Given the description of an element on the screen output the (x, y) to click on. 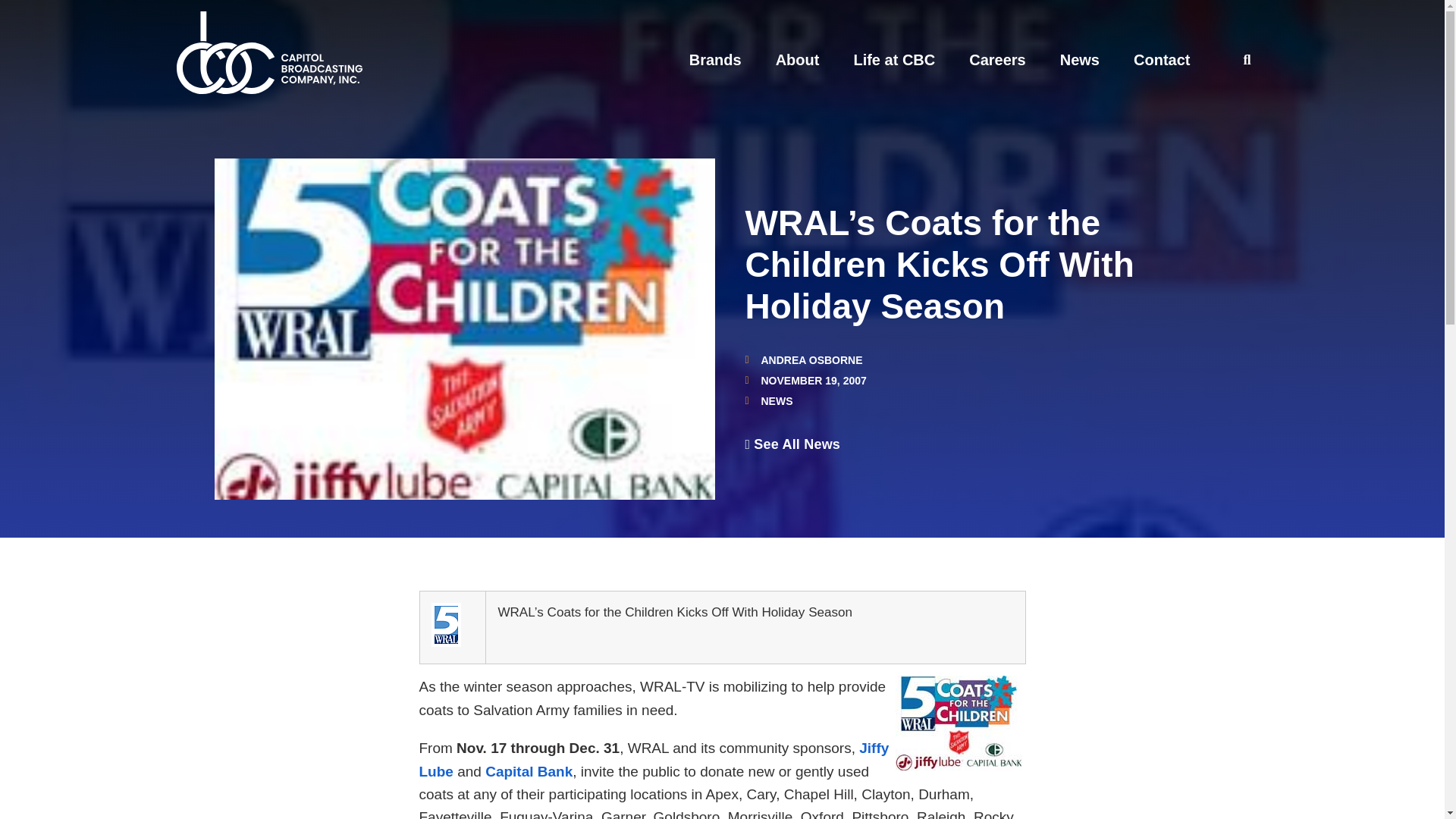
About (797, 59)
ANDREA OSBORNE (802, 359)
Careers (997, 59)
Brands (714, 59)
NOVEMBER 19, 2007 (805, 380)
Contact (1161, 59)
Capital Bank (528, 771)
NEWS (777, 400)
See All News (792, 444)
Life at CBC (893, 59)
